Given the description of an element on the screen output the (x, y) to click on. 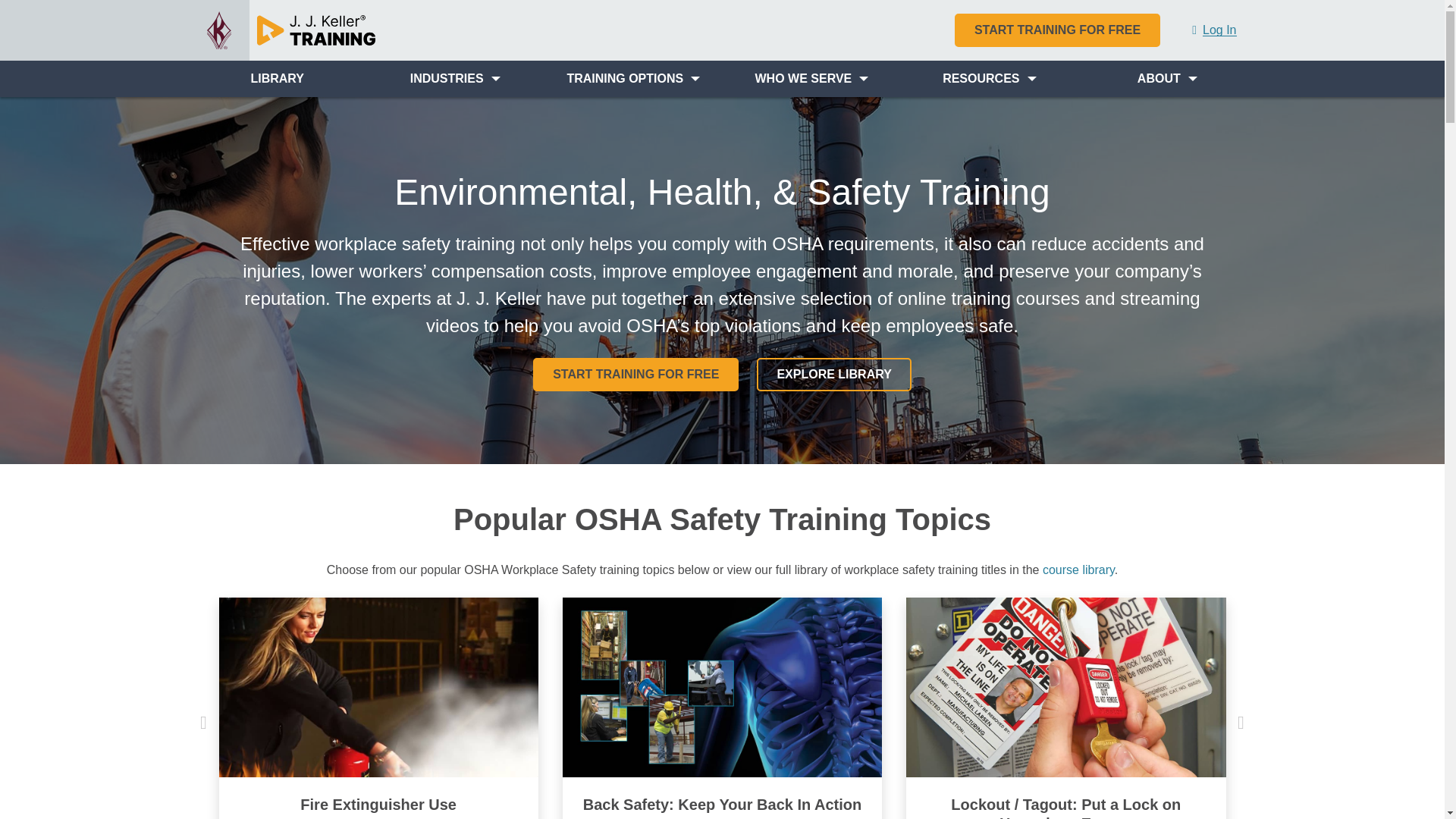
Log In (1213, 29)
Log In (1213, 29)
INDUSTRIES (454, 78)
LIBRARY (276, 78)
LIBRARY (276, 78)
WHO WE SERVE (810, 78)
START TRAINING FOR FREE (1057, 29)
TRAINING OPTIONS (632, 78)
START TRAINING FOR FREE (1057, 29)
RESOURCES (989, 78)
